Given the description of an element on the screen output the (x, y) to click on. 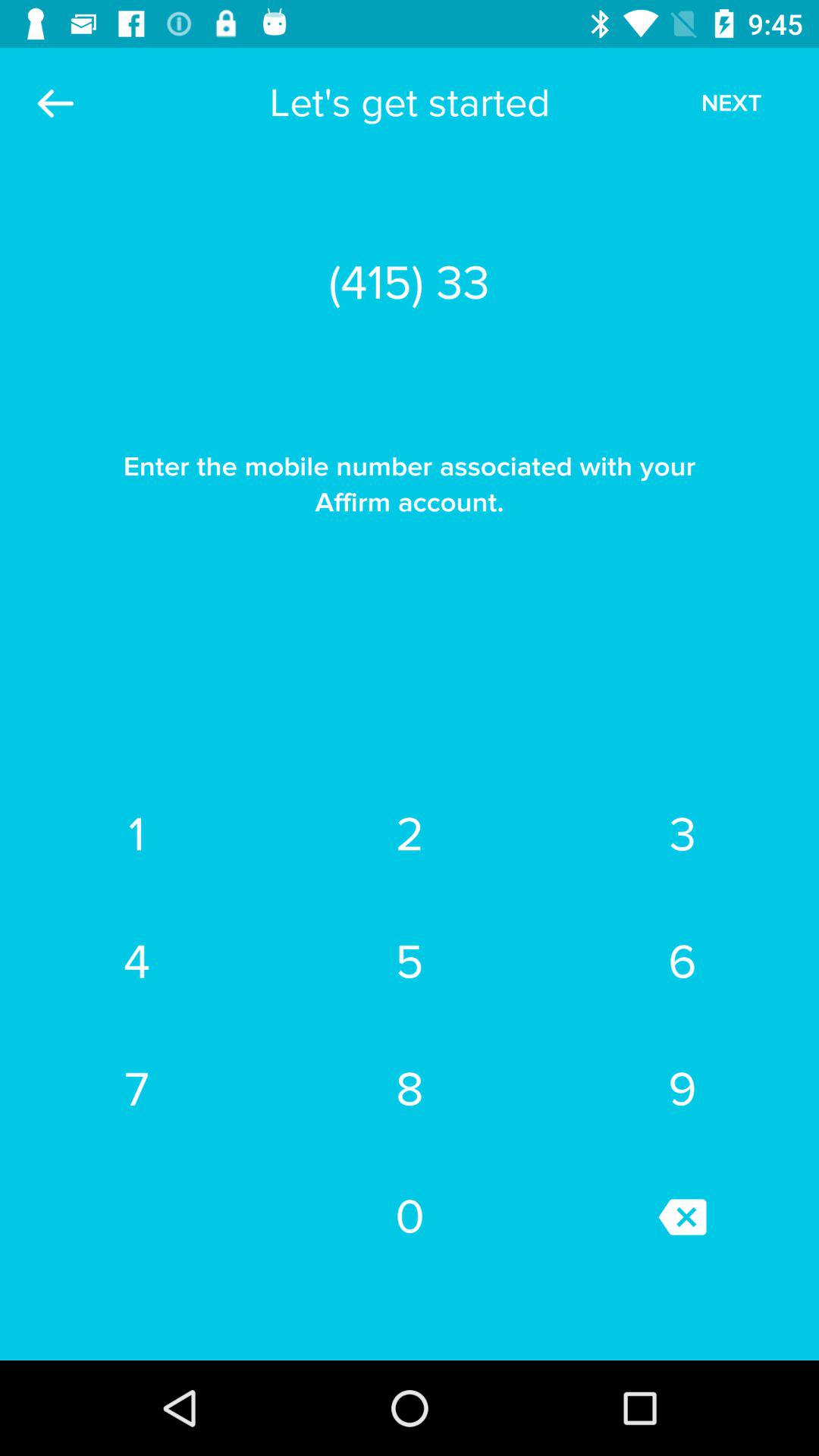
turn off the icon to the left of let s get item (55, 103)
